Given the description of an element on the screen output the (x, y) to click on. 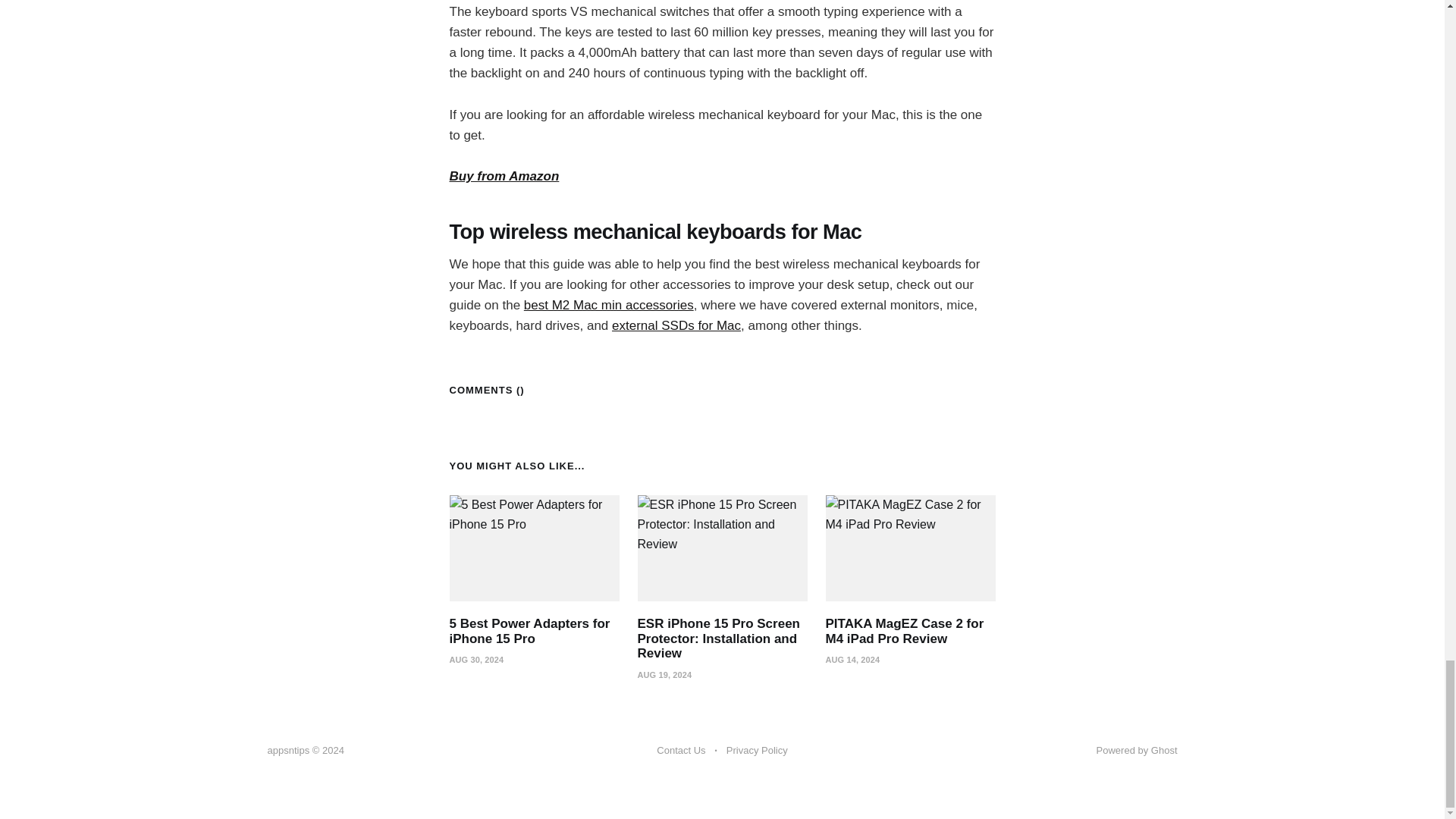
external SSDs for Mac (676, 325)
best M2 Mac min accessories (609, 305)
5 Best Power Adapters for iPhone 15 Pro (529, 631)
Buy from Amazon (503, 175)
